Given the description of an element on the screen output the (x, y) to click on. 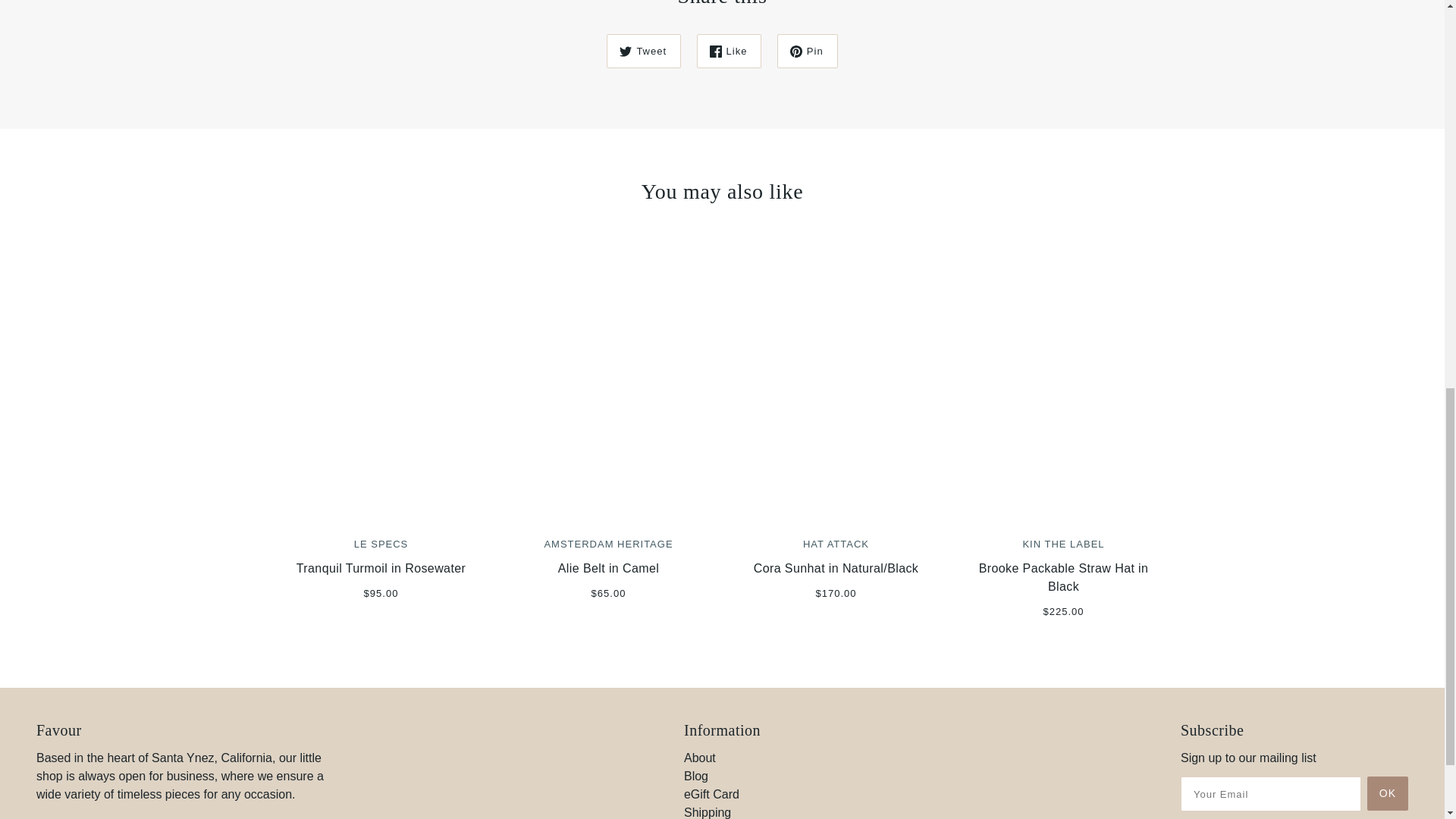
About (700, 757)
eGift Card (711, 793)
Blog (695, 775)
Shipping  (707, 812)
